Given the description of an element on the screen output the (x, y) to click on. 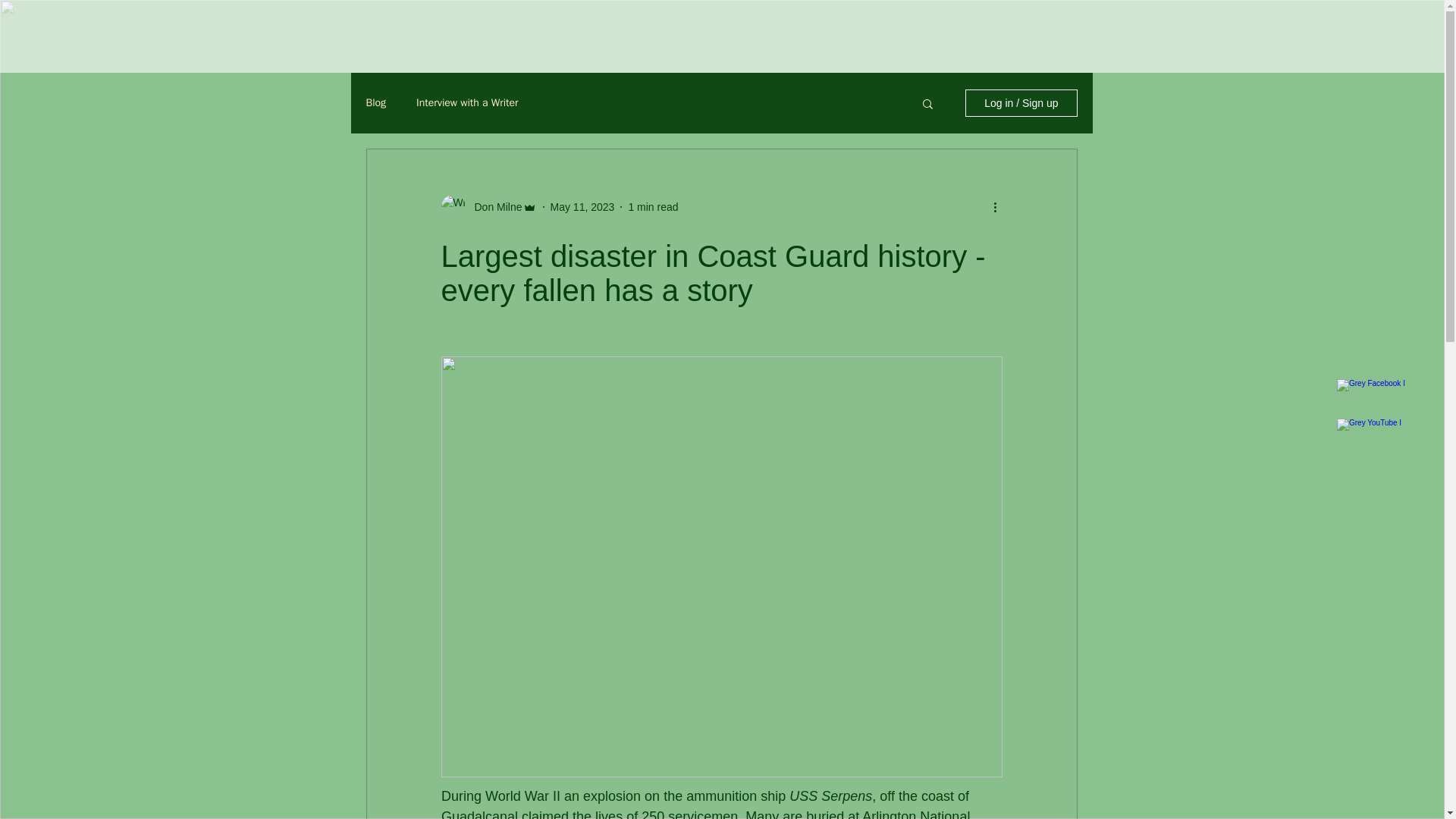
May 11, 2023 (582, 205)
Interview with a Writer (467, 102)
Blog (375, 102)
Don Milne (493, 206)
1 min read (652, 205)
